Given the description of an element on the screen output the (x, y) to click on. 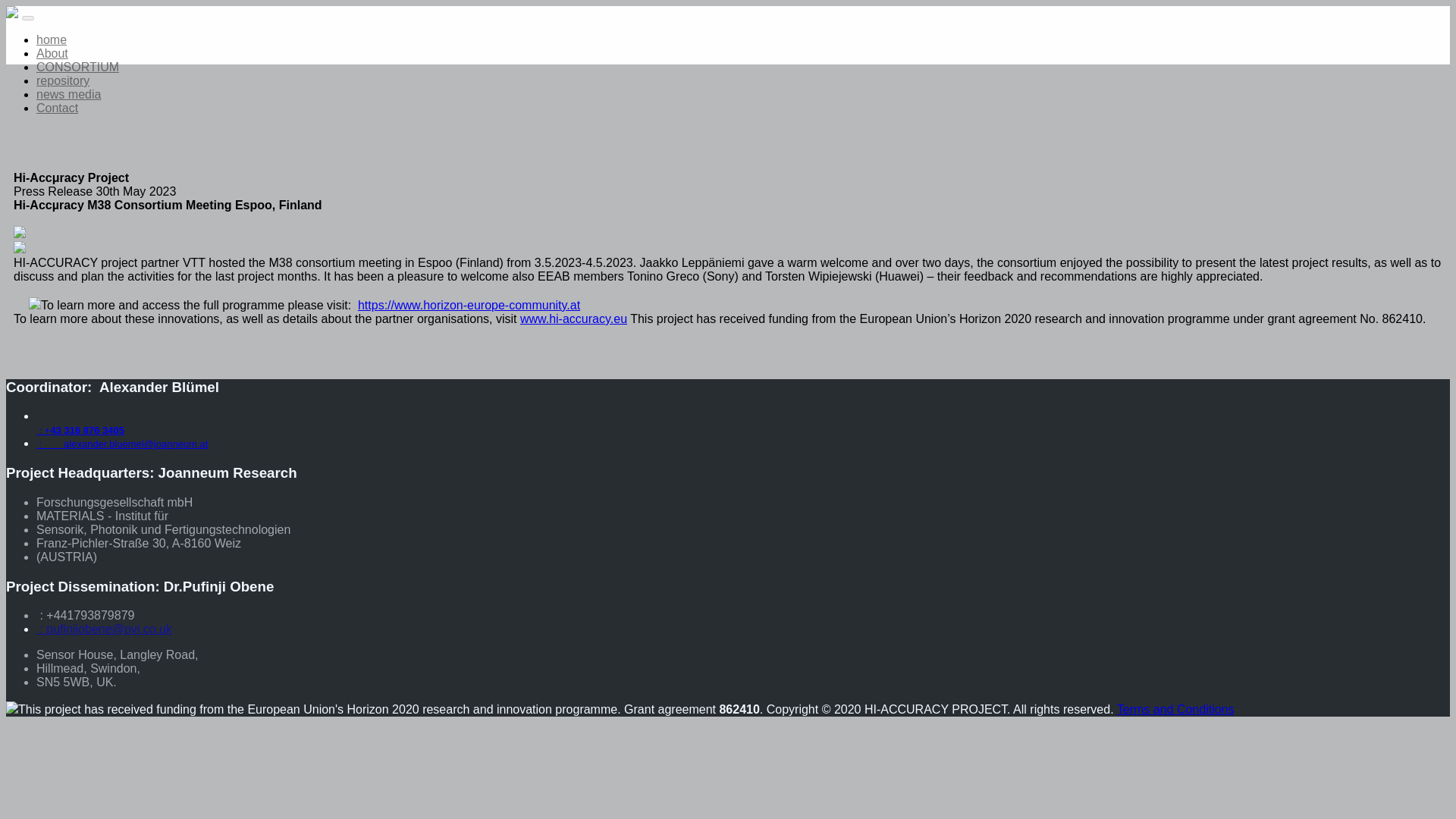
news media (68, 93)
home (51, 39)
Contact (57, 107)
CONSORTIUM (77, 66)
repository (62, 80)
www.hi-accuracy.eu (573, 318)
home (51, 39)
CONSORTIUM (77, 66)
About (52, 52)
news media (68, 93)
